Given the description of an element on the screen output the (x, y) to click on. 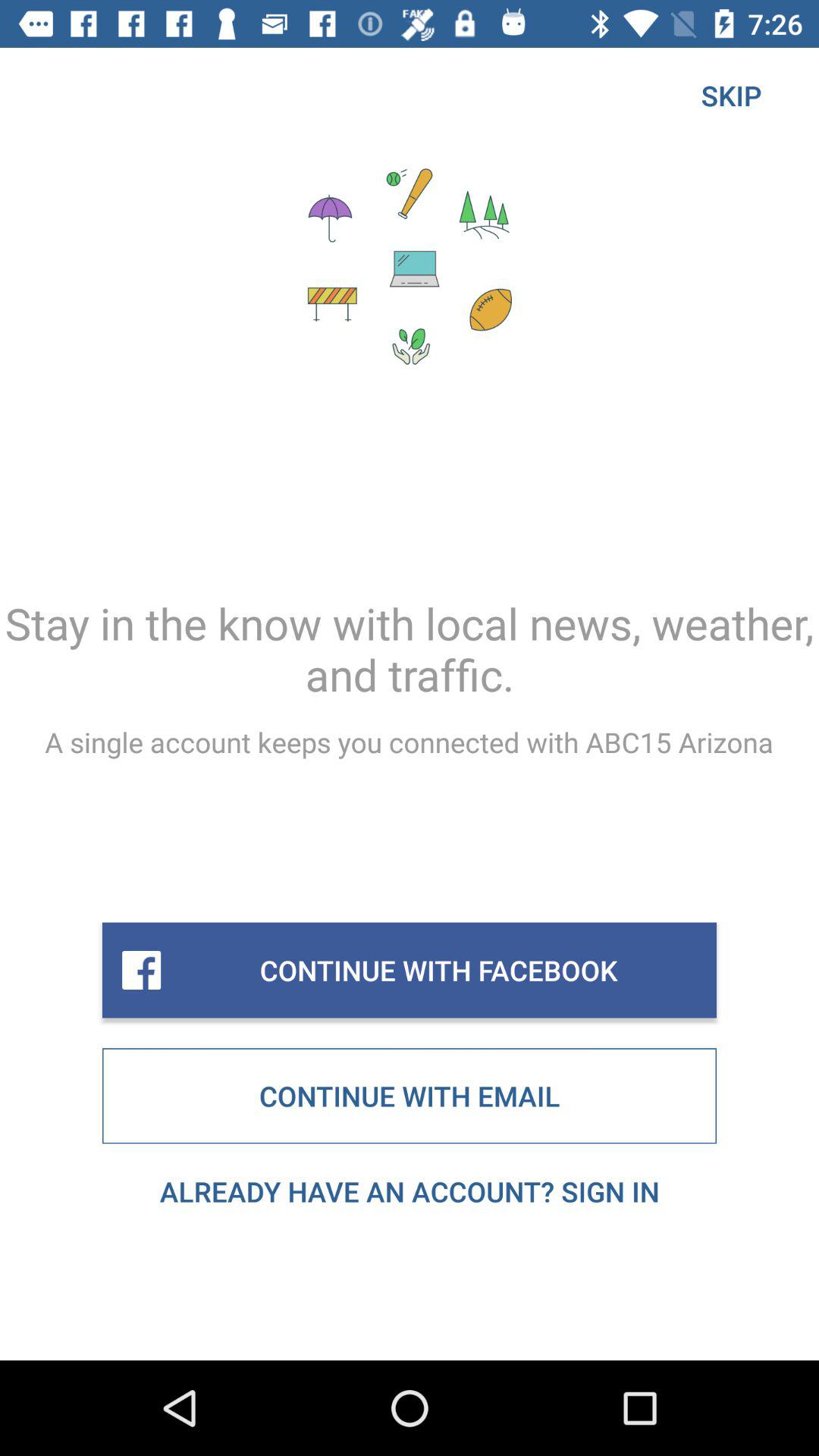
flip to skip item (731, 95)
